Given the description of an element on the screen output the (x, y) to click on. 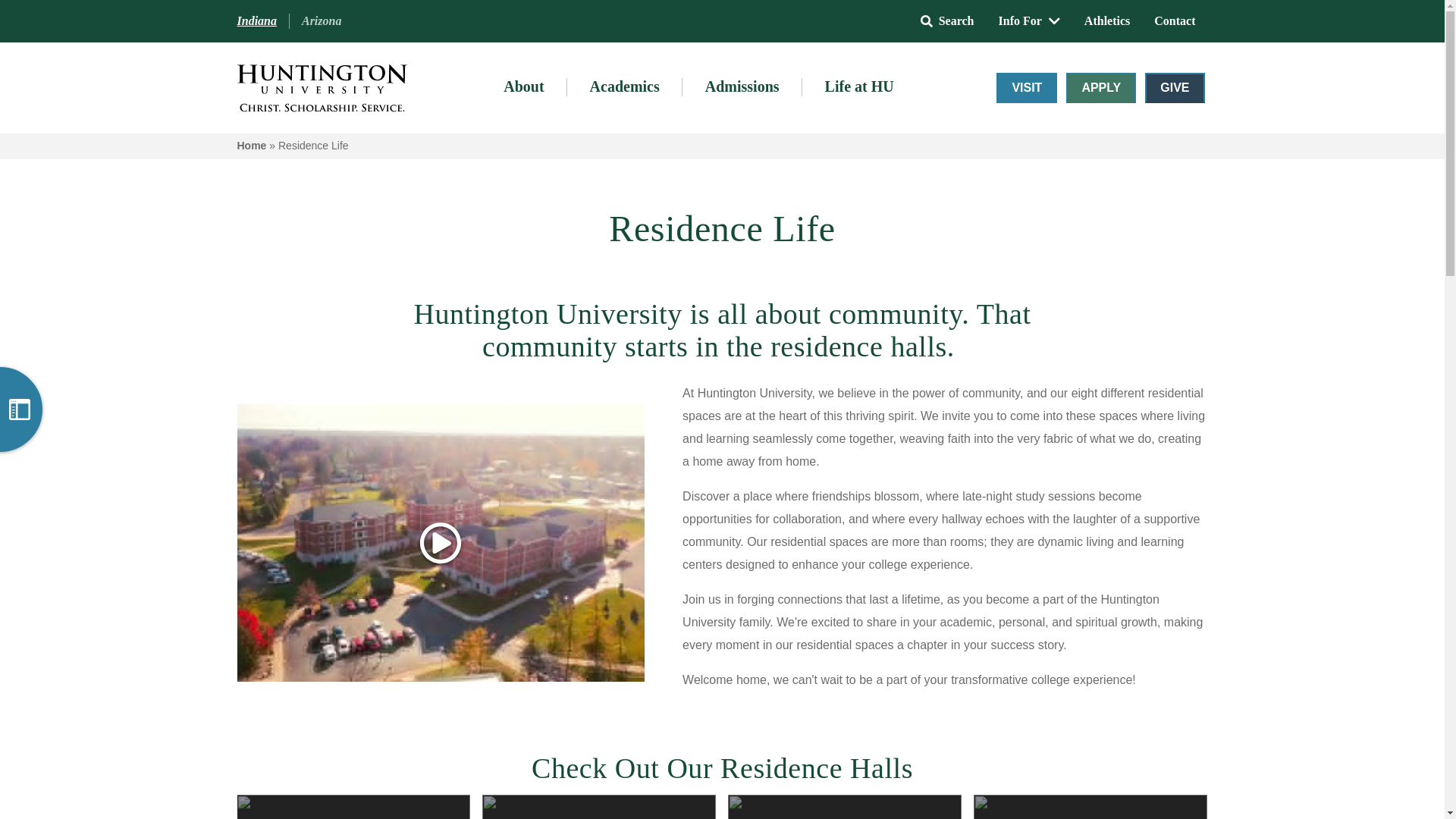
Arizona (321, 20)
Meet Your RA (113, 217)
RESIDENCE LIFE (113, 107)
Contact (1174, 20)
Athletics (1106, 20)
About (523, 87)
Res Hall FAQs (95, 286)
Residence Halls (95, 183)
Info For (1029, 20)
What To Pack (113, 252)
